Given the description of an element on the screen output the (x, y) to click on. 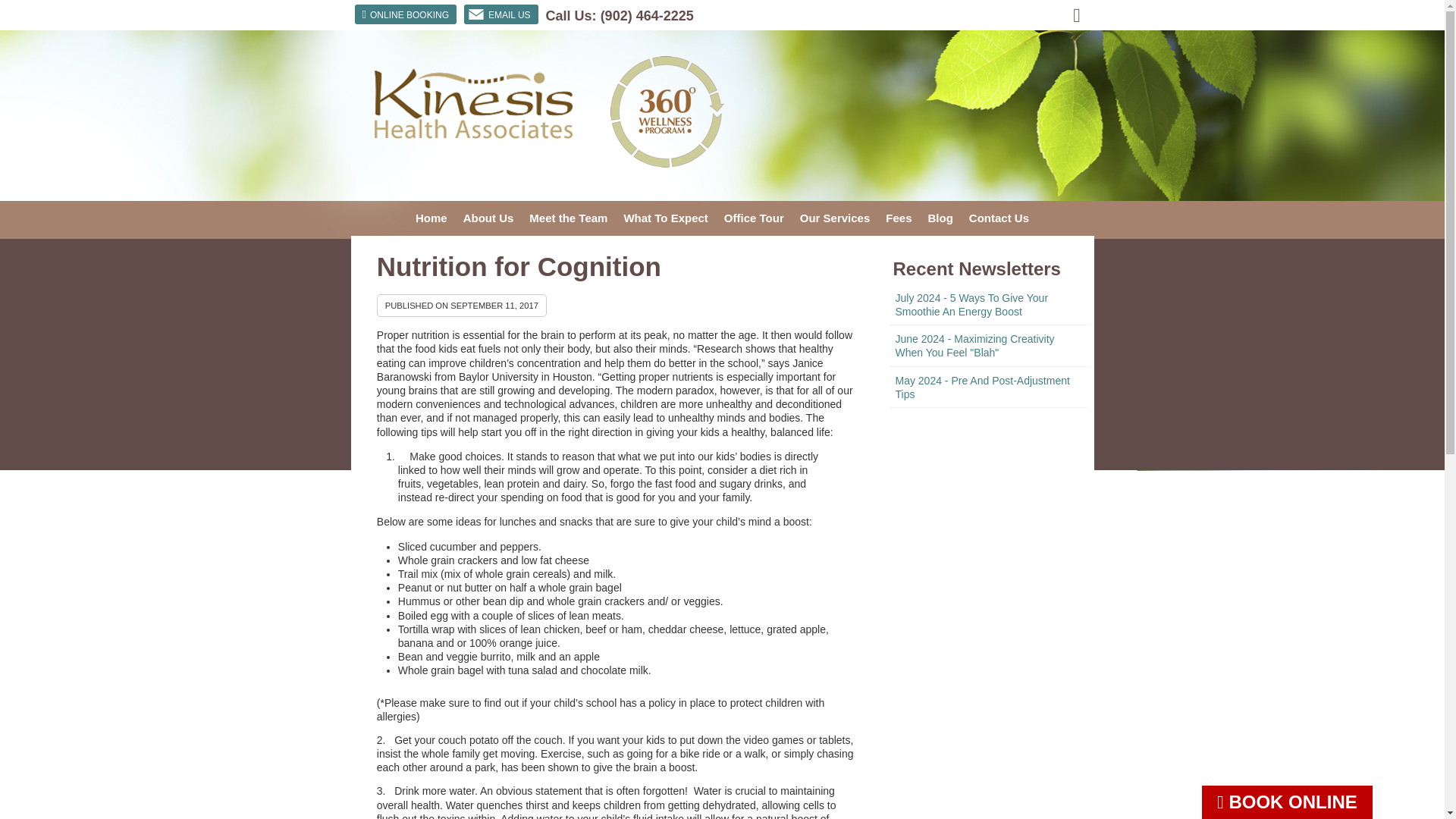
Meet the Team (568, 218)
Instagram Social Button (1077, 14)
Home (431, 218)
Contact (501, 14)
Recent Newlsetters List (987, 346)
Office Tour (754, 218)
Welcome to Kinesis Health Associates (472, 134)
Kinesis Health Associates (472, 134)
What To Expect (665, 218)
ONLINE BOOKING (406, 14)
EMAIL US (501, 14)
BOOK ONLINE (1287, 802)
About Us (488, 218)
Our Services (835, 218)
